Given the description of an element on the screen output the (x, y) to click on. 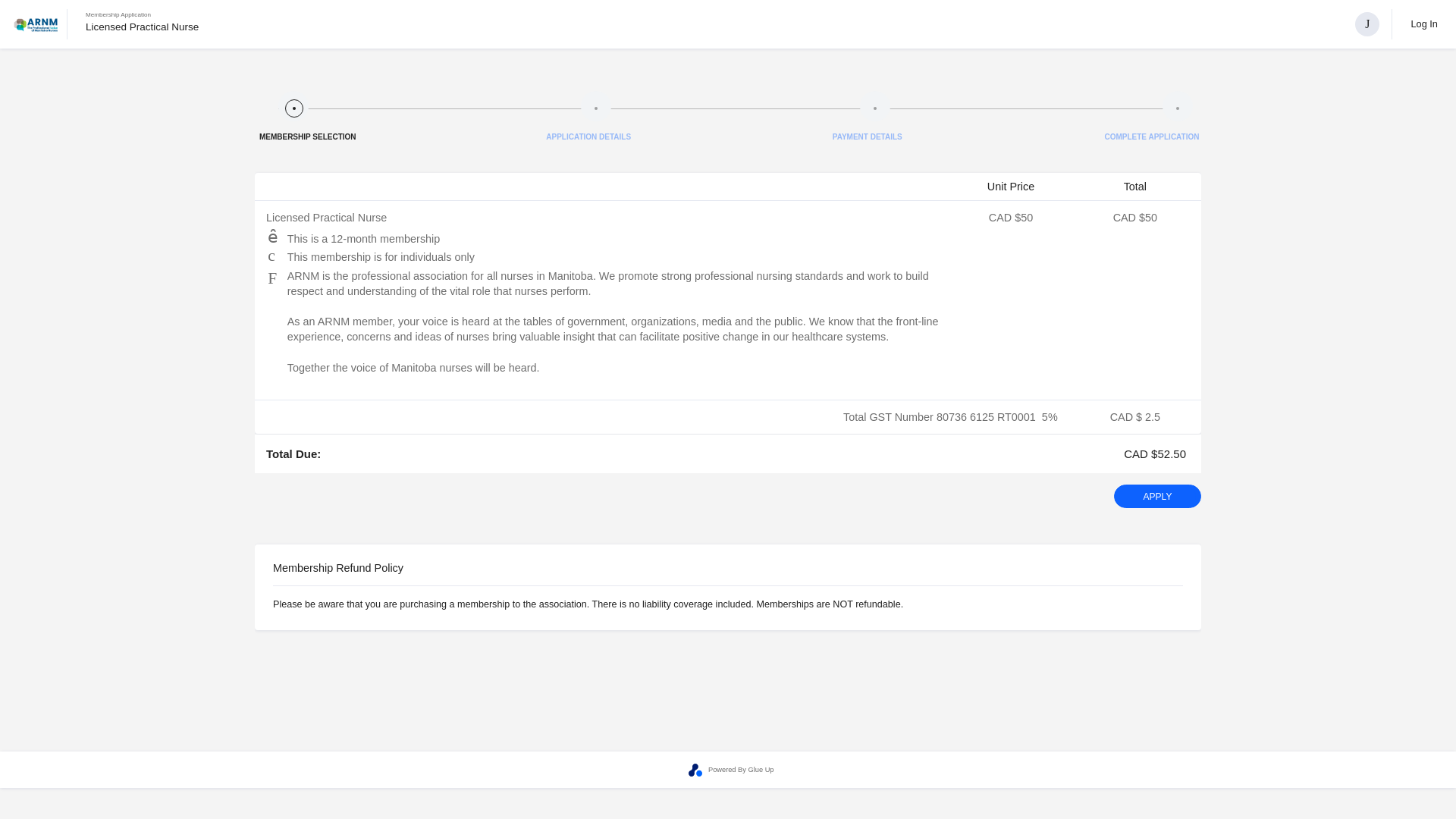
APPLY (1157, 495)
ARNM logo (35, 24)
Licensed Practical Nurse (141, 27)
